Given the description of an element on the screen output the (x, y) to click on. 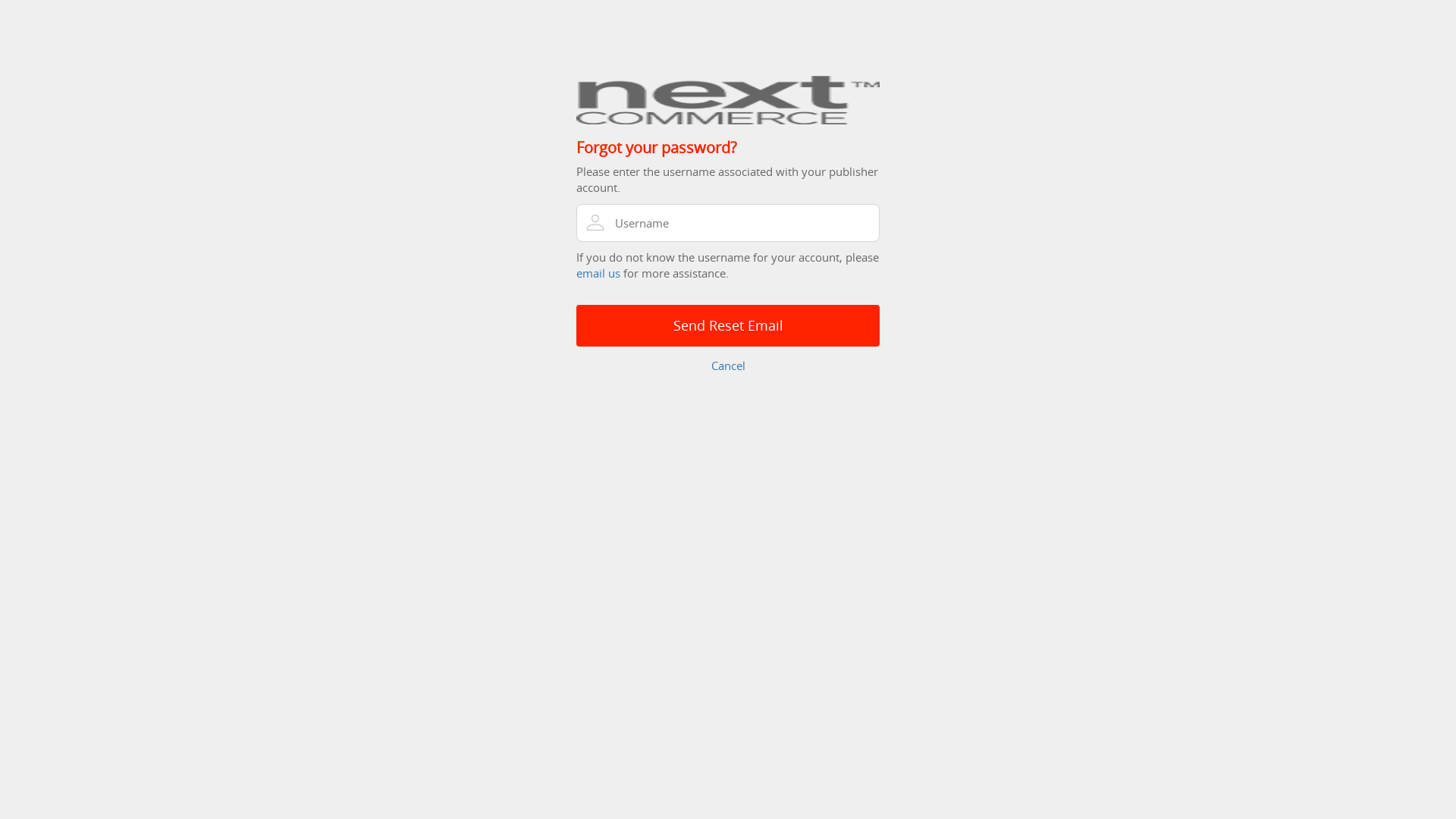
Cancel Element type: text (728, 365)
email us Element type: text (598, 272)
Send Reset Email Element type: text (727, 325)
